Given the description of an element on the screen output the (x, y) to click on. 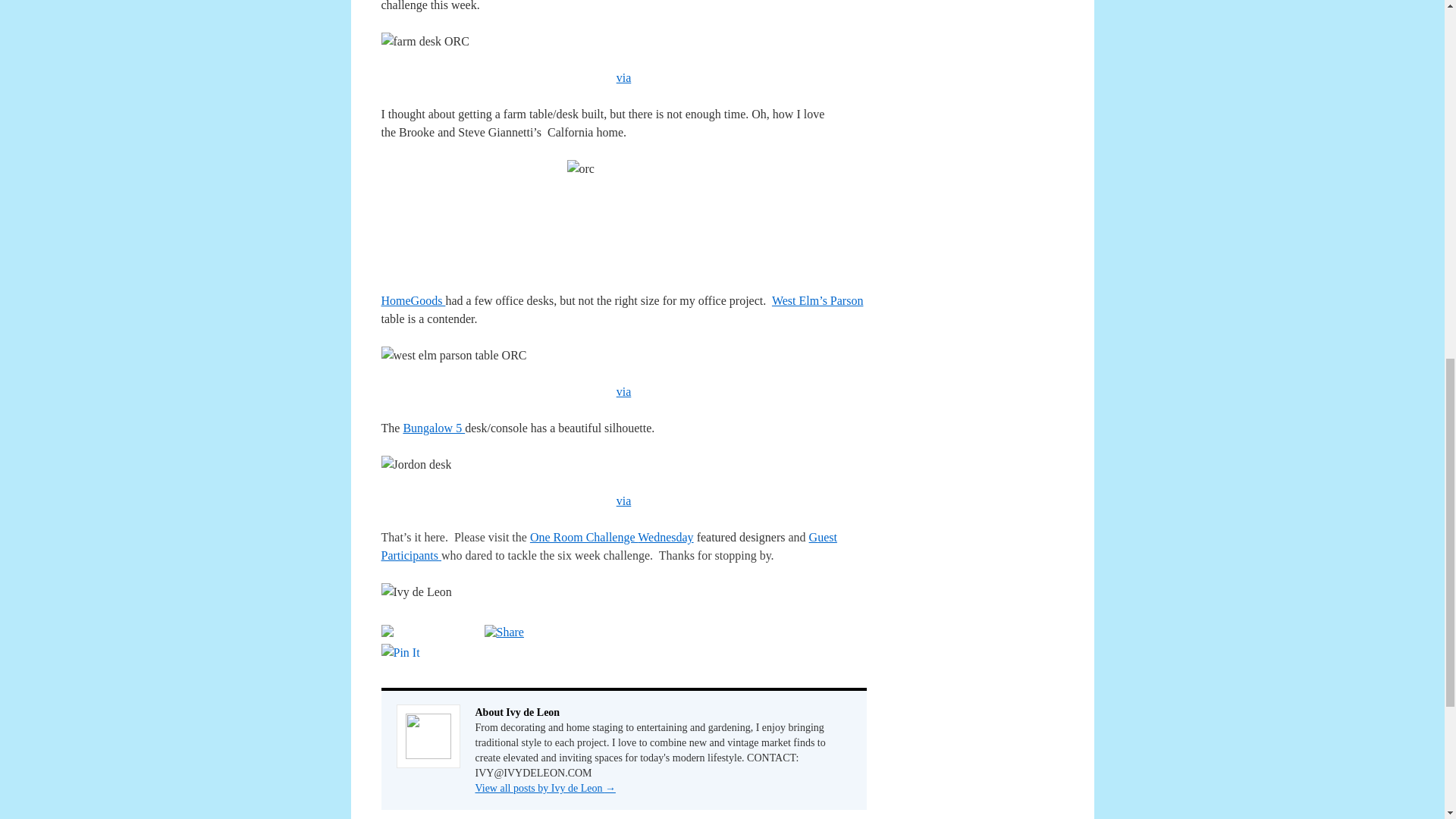
Wednesday (665, 536)
via (623, 391)
Pin It (399, 652)
via (623, 77)
Bungalow 5 (433, 427)
One Room Challenge  (583, 536)
via (623, 500)
uest Participants (607, 545)
HomeGoods (412, 300)
